Given the description of an element on the screen output the (x, y) to click on. 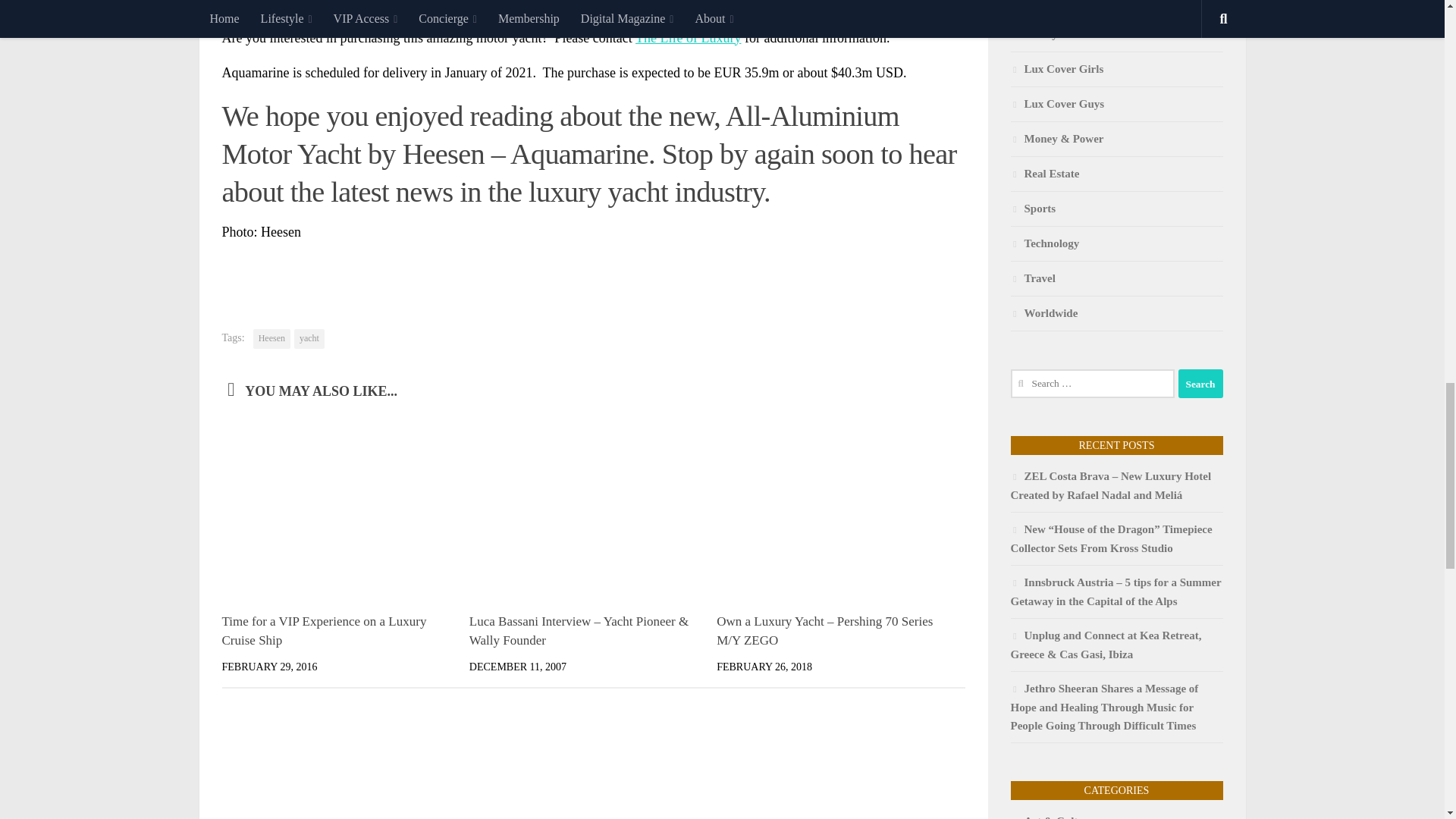
Search (1200, 383)
Search (1200, 383)
Print Content (953, 272)
